Given the description of an element on the screen output the (x, y) to click on. 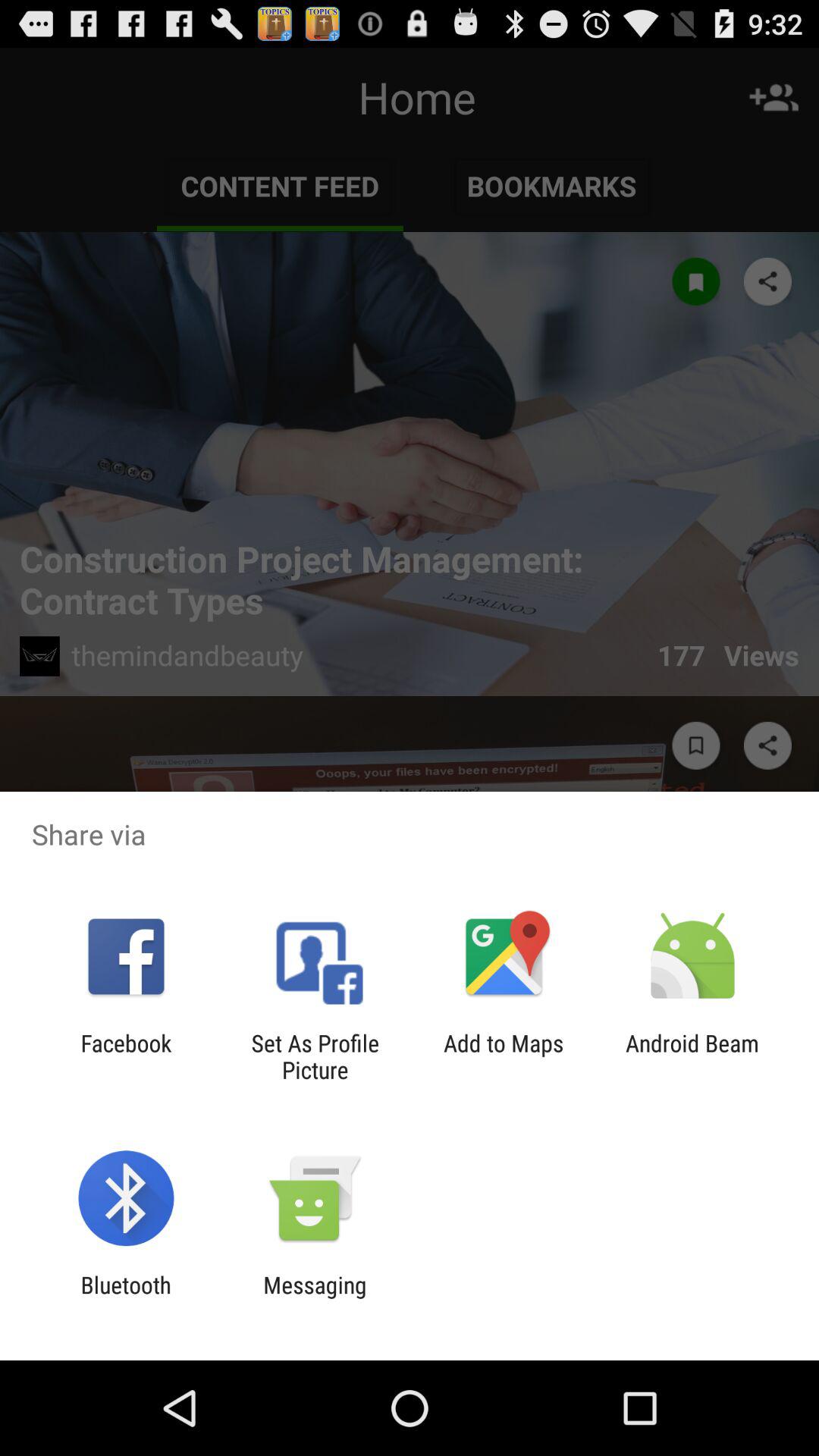
select the app to the right of set as profile (503, 1056)
